Given the description of an element on the screen output the (x, y) to click on. 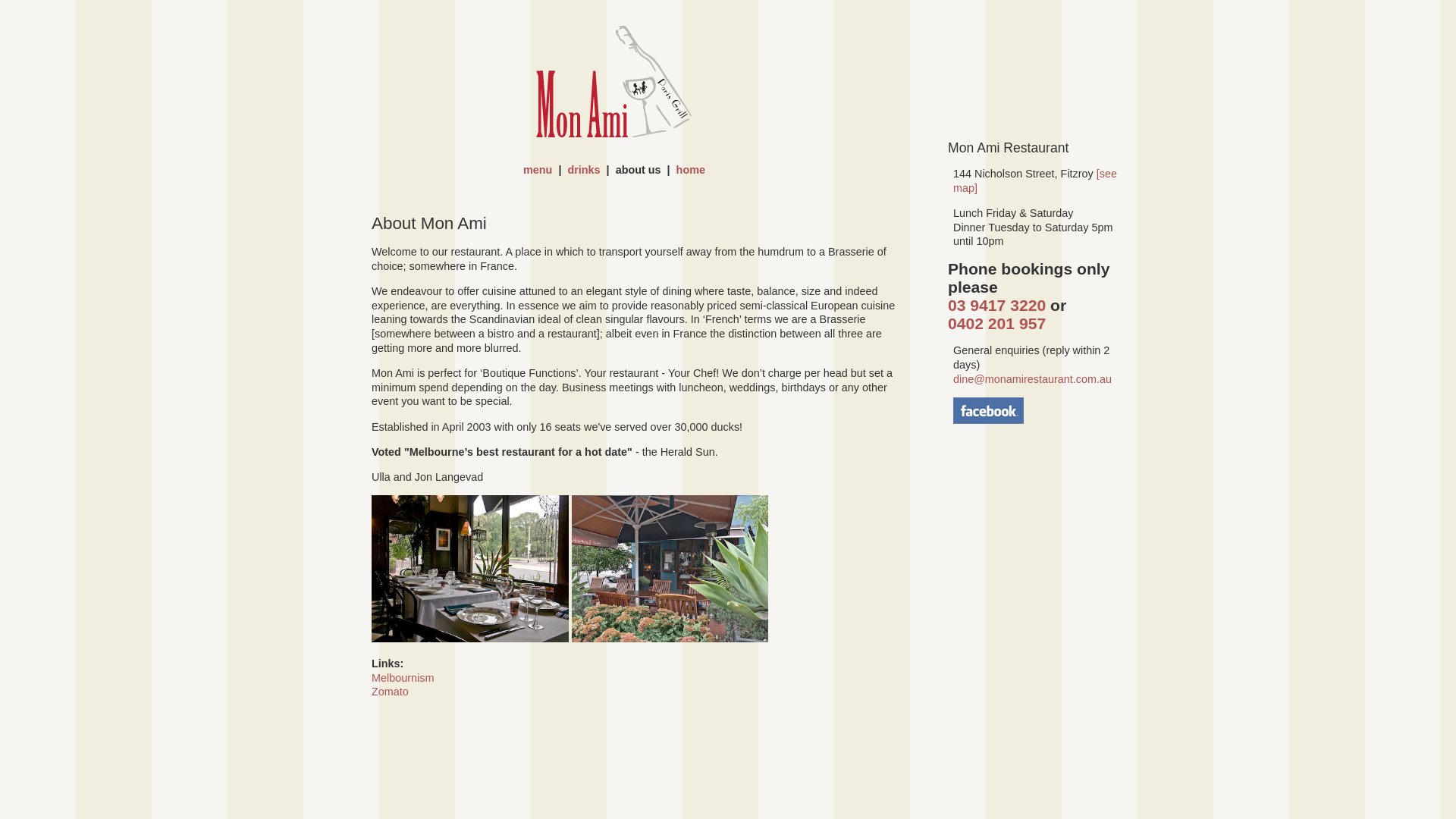
Zomato Element type: text (389, 691)
Melbournism Element type: text (402, 677)
[see map] Element type: text (1035, 180)
03 9417 3220 Element type: text (996, 304)
dine@monamirestaurant.com.au Element type: text (1032, 379)
drinks Element type: text (583, 169)
menu Element type: text (537, 169)
home Element type: text (690, 169)
0402 201 957 Element type: text (996, 323)
